Given the description of an element on the screen output the (x, y) to click on. 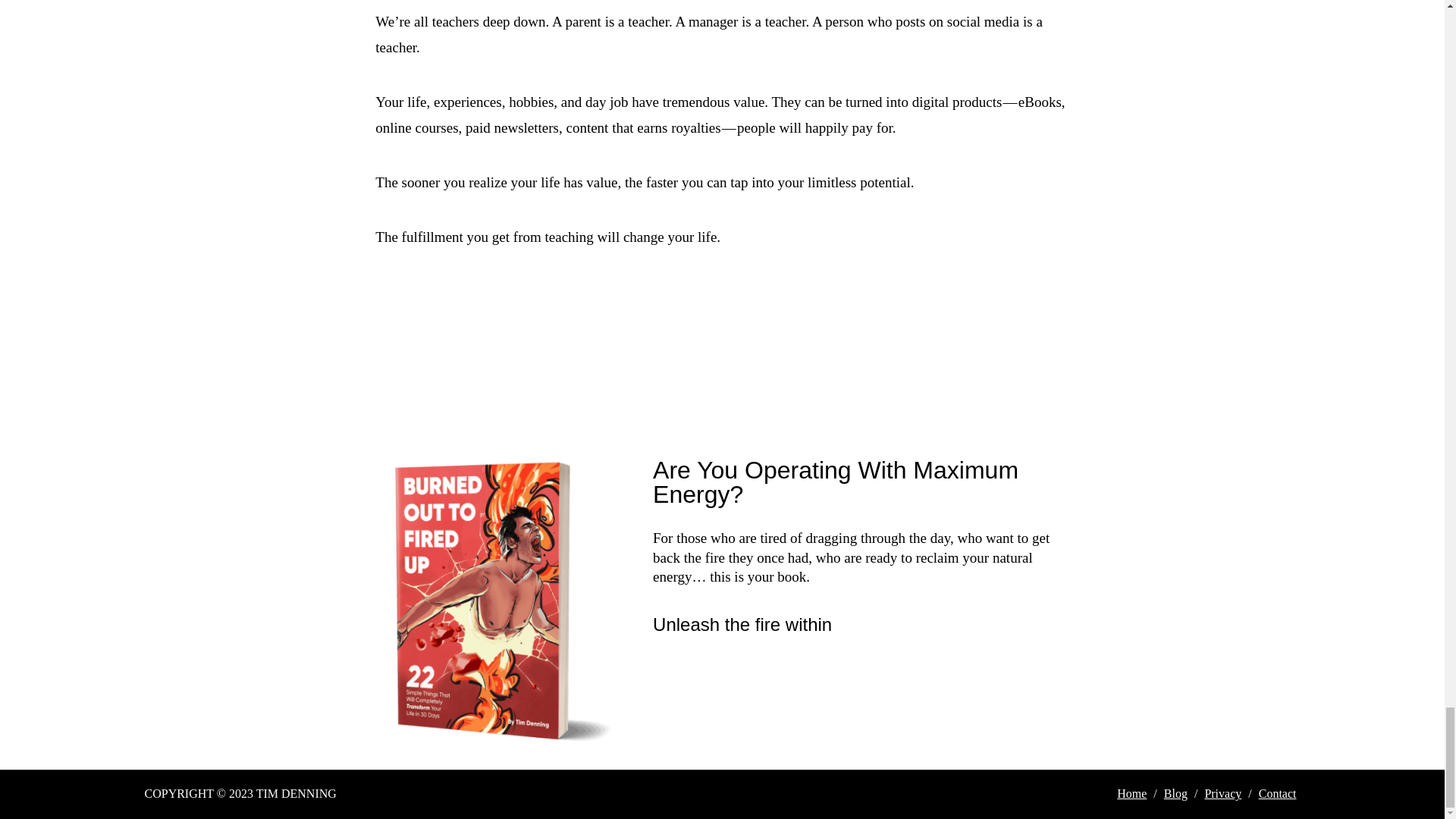
Blog (1175, 792)
Contact (1277, 792)
Privacy (1221, 792)
Home (1131, 792)
